Given the description of an element on the screen output the (x, y) to click on. 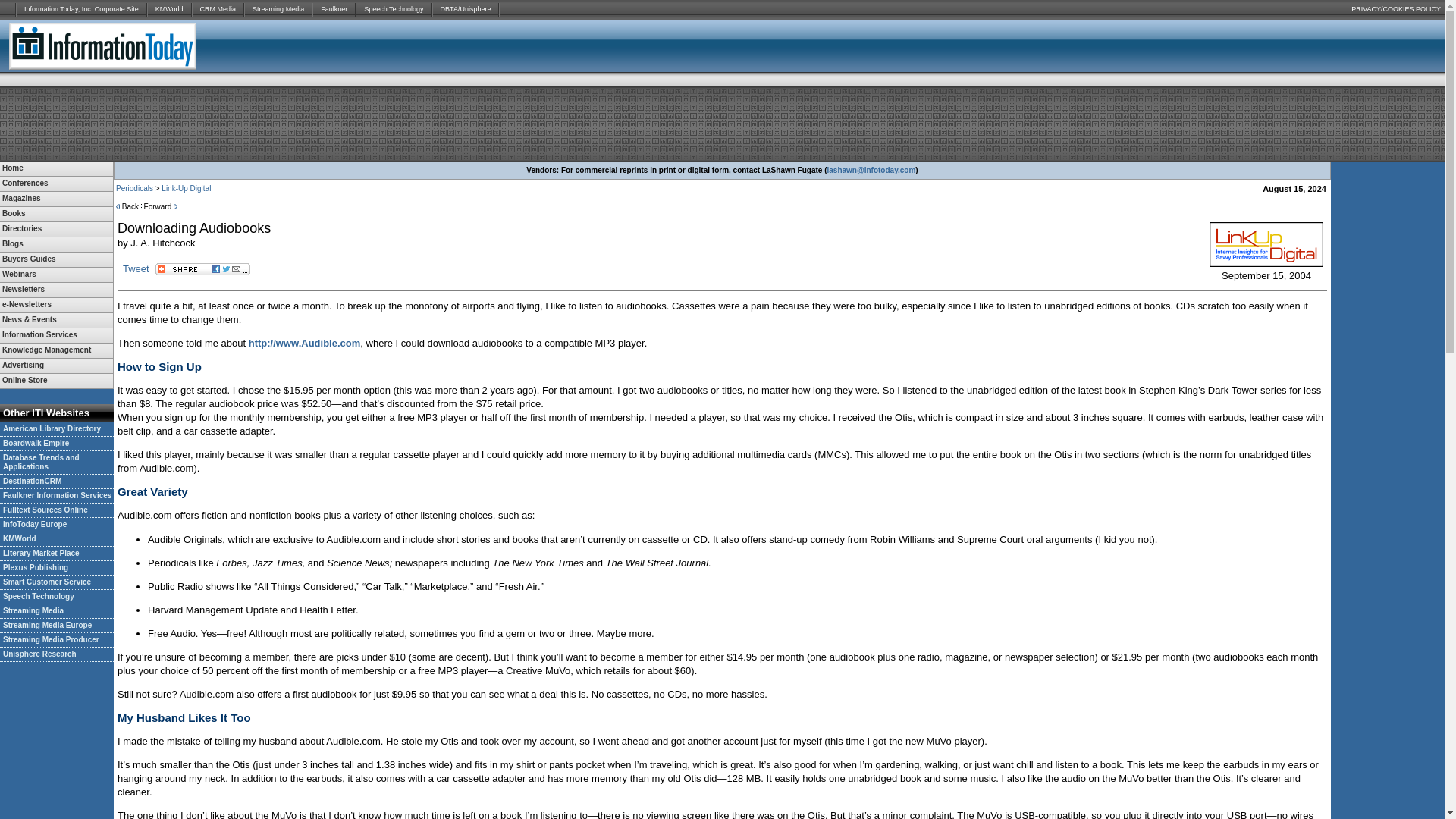
3rd party ad content (721, 123)
CRM Media (218, 9)
3rd party ad content (1259, 45)
Streaming Media (277, 9)
Speech Technology (393, 9)
Conferences (56, 183)
KMWorld (169, 9)
Home (56, 168)
Magazines (56, 198)
Faulkner (334, 9)
